Given the description of an element on the screen output the (x, y) to click on. 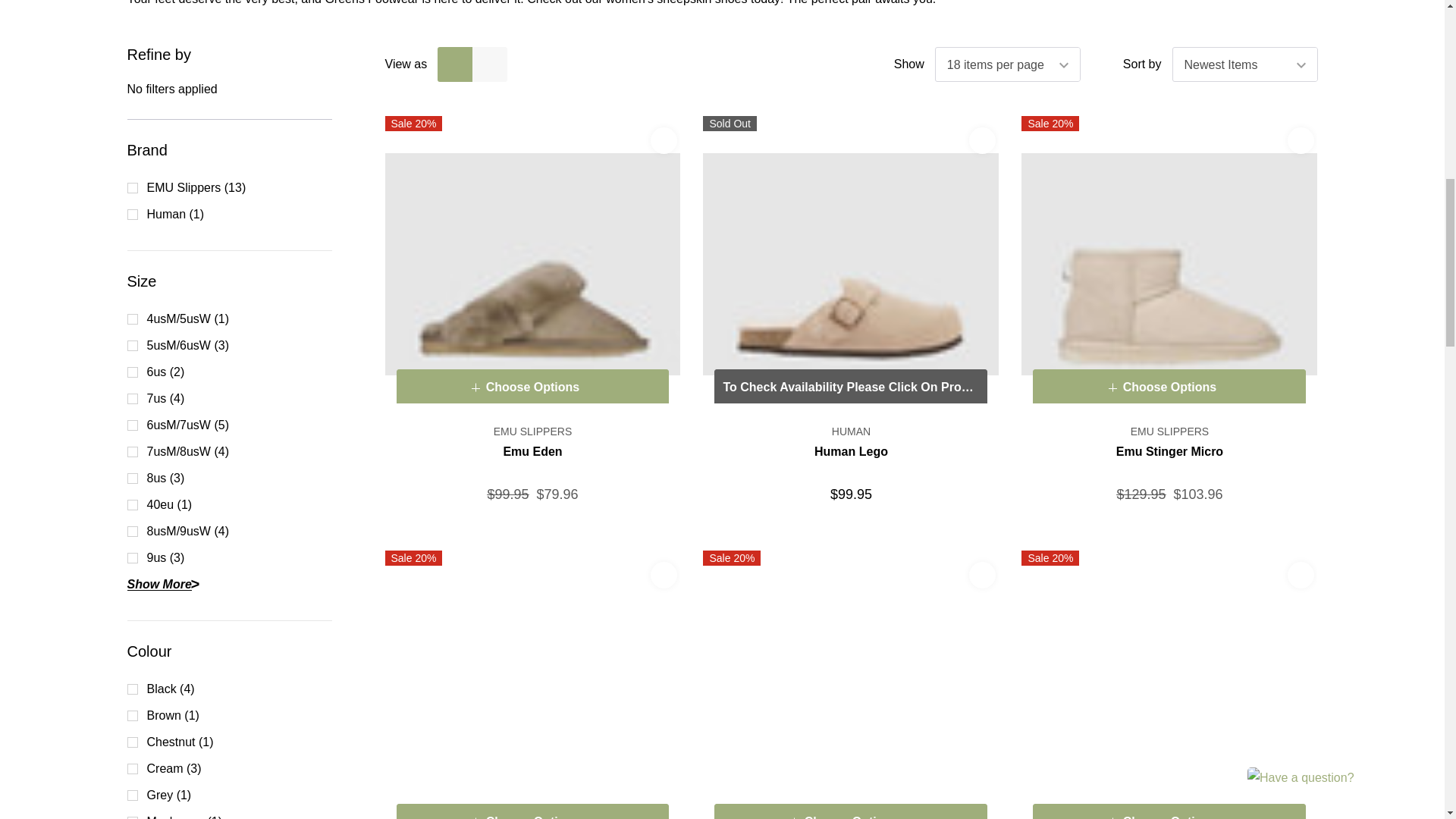
Macadamia (1169, 263)
Chestnut (533, 684)
Natural (850, 684)
mushroom (533, 263)
Sand Suede (850, 263)
Tawny (1169, 684)
